Given the description of an element on the screen output the (x, y) to click on. 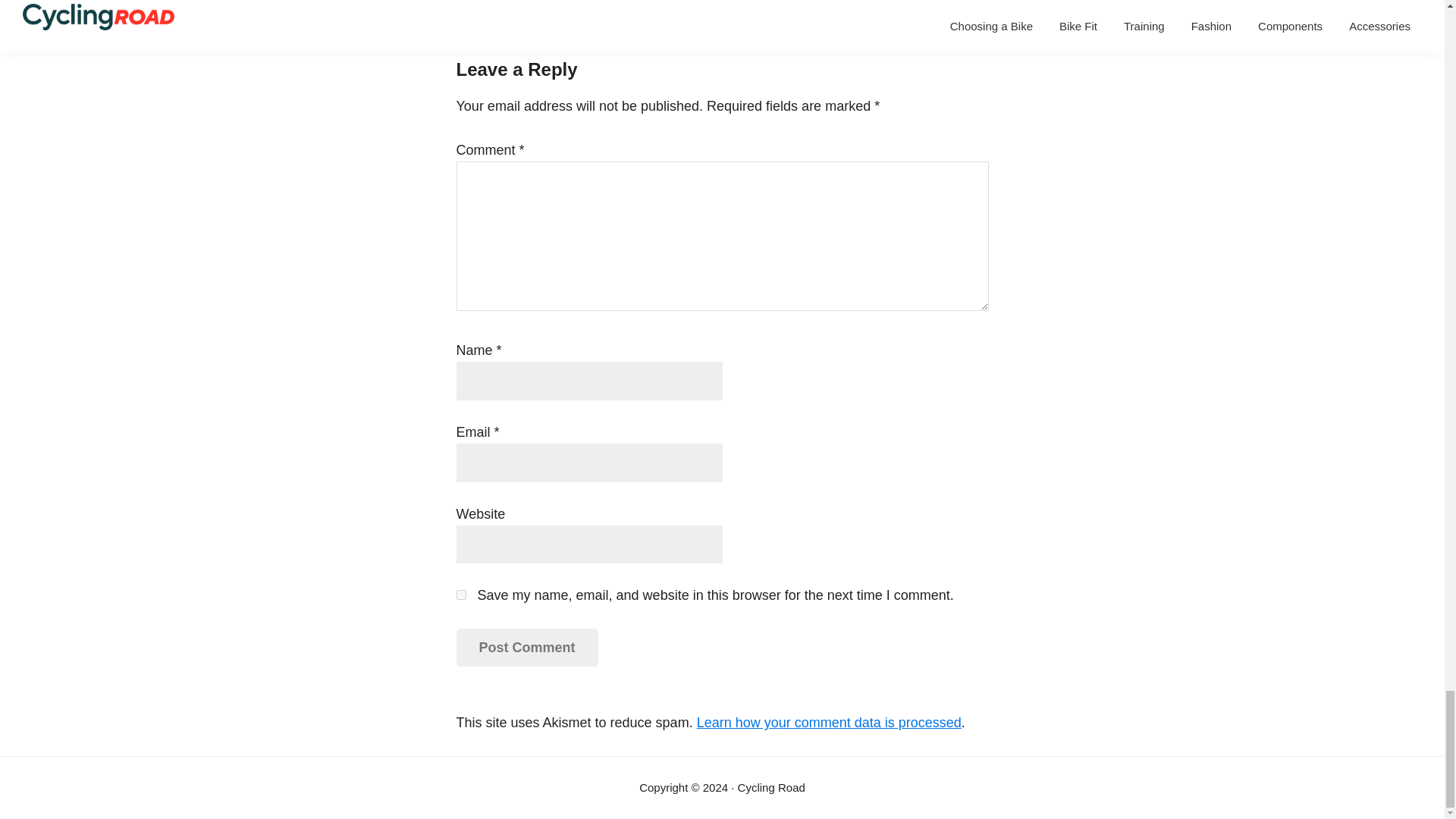
Learn how your comment data is processed (828, 722)
Post Comment (527, 647)
yes (461, 594)
Post Comment (527, 647)
